Given the description of an element on the screen output the (x, y) to click on. 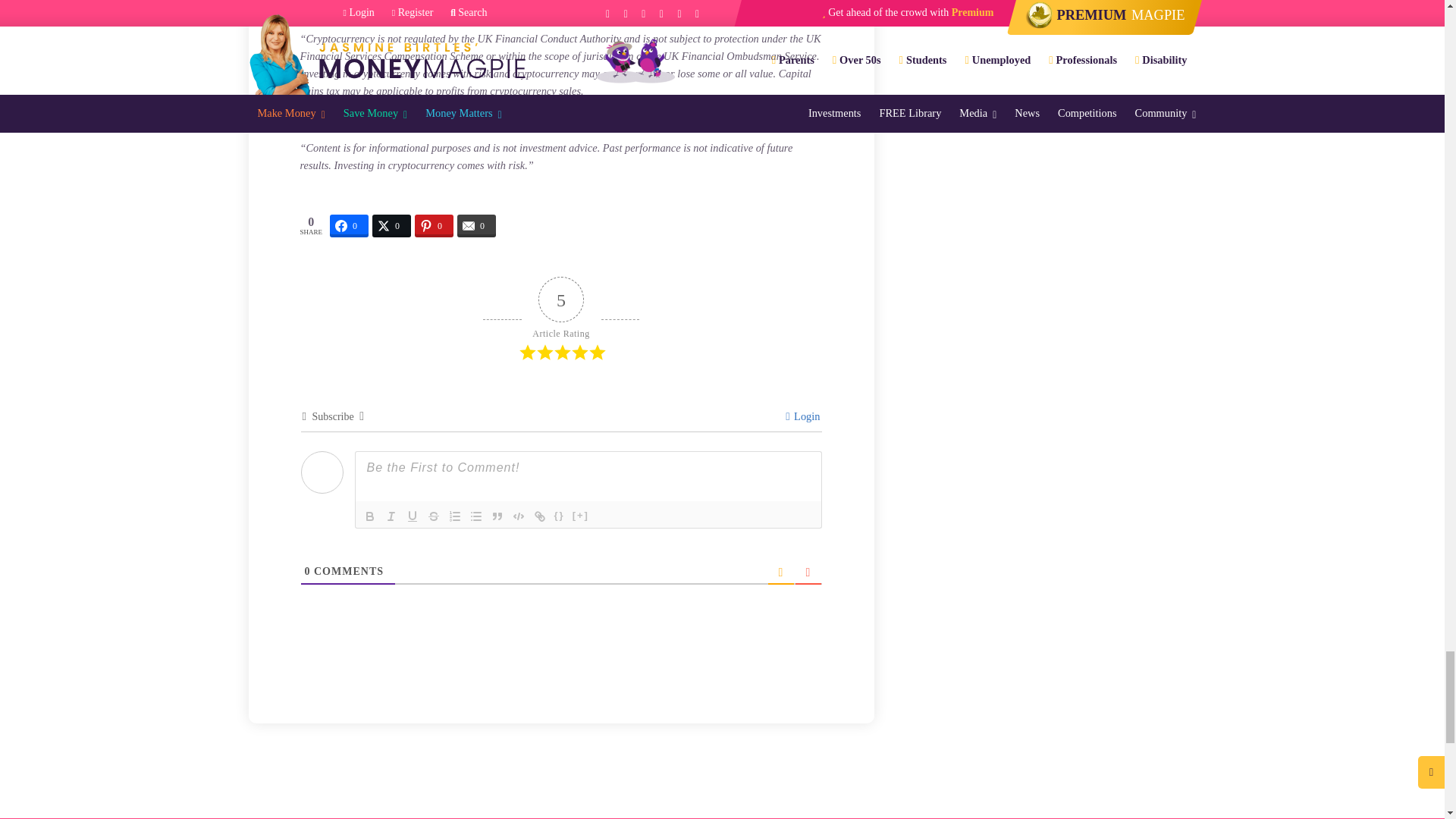
Share on Pinterest (433, 225)
Share on Twitter (391, 225)
Share on Facebook (349, 225)
